Given the description of an element on the screen output the (x, y) to click on. 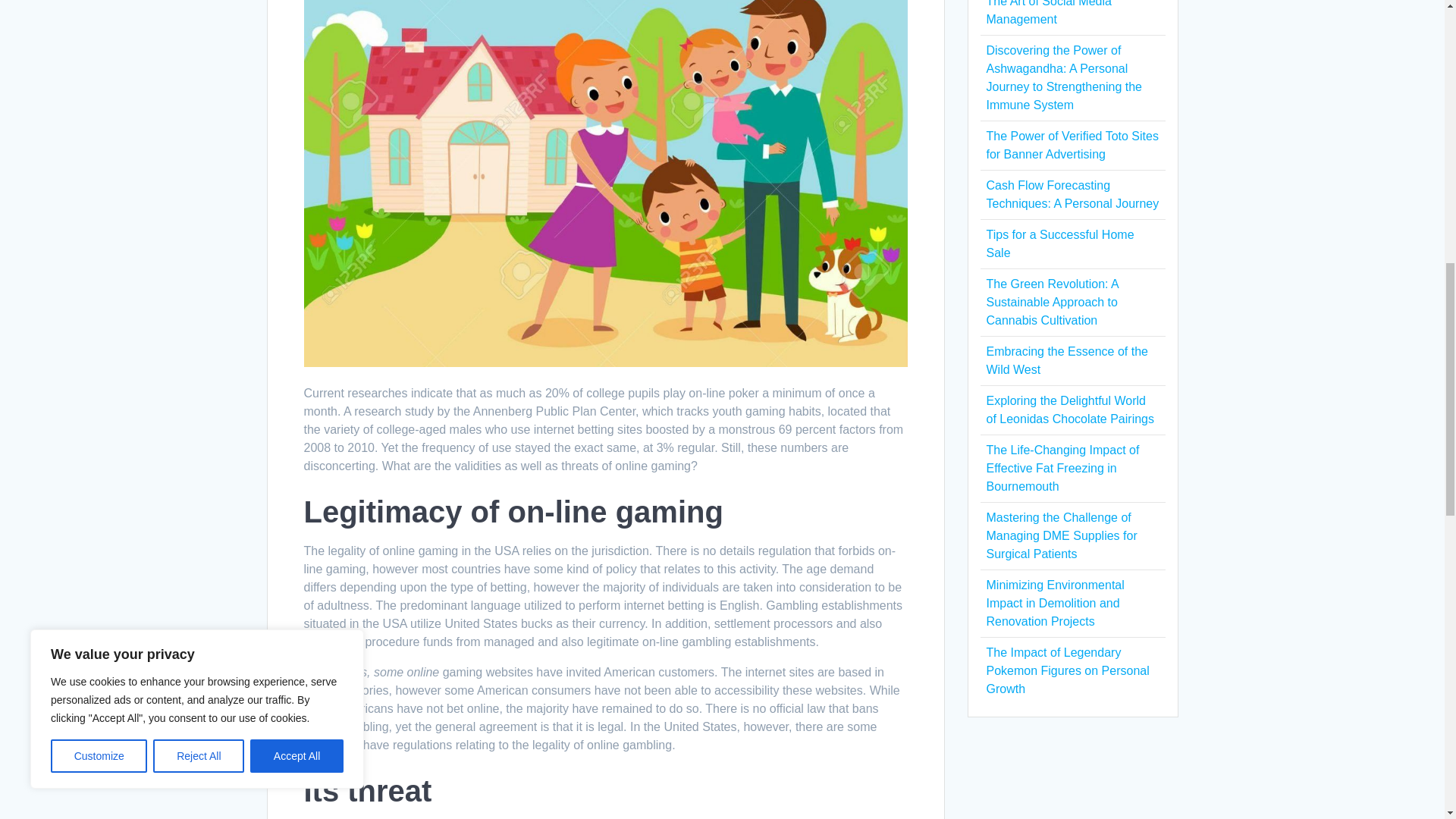
The Power of Verified Toto Sites for Banner Advertising (1071, 144)
The Art of Social Media Management (1047, 12)
Cash Flow Forecasting Techniques: A Personal Journey (1071, 194)
Tips for a Successful Home Sale (1059, 243)
